Given the description of an element on the screen output the (x, y) to click on. 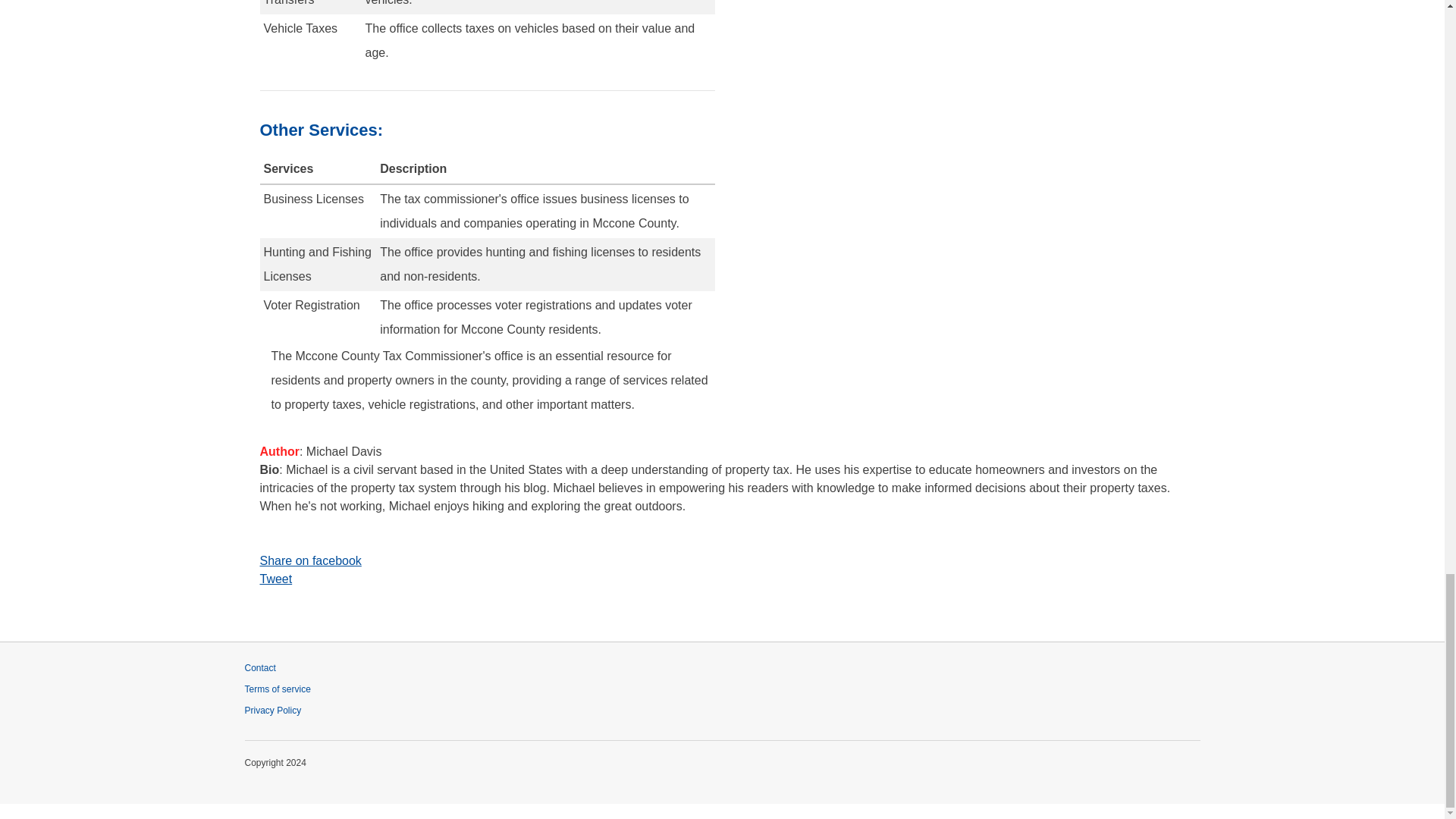
Share on facebook (722, 561)
